Given the description of an element on the screen output the (x, y) to click on. 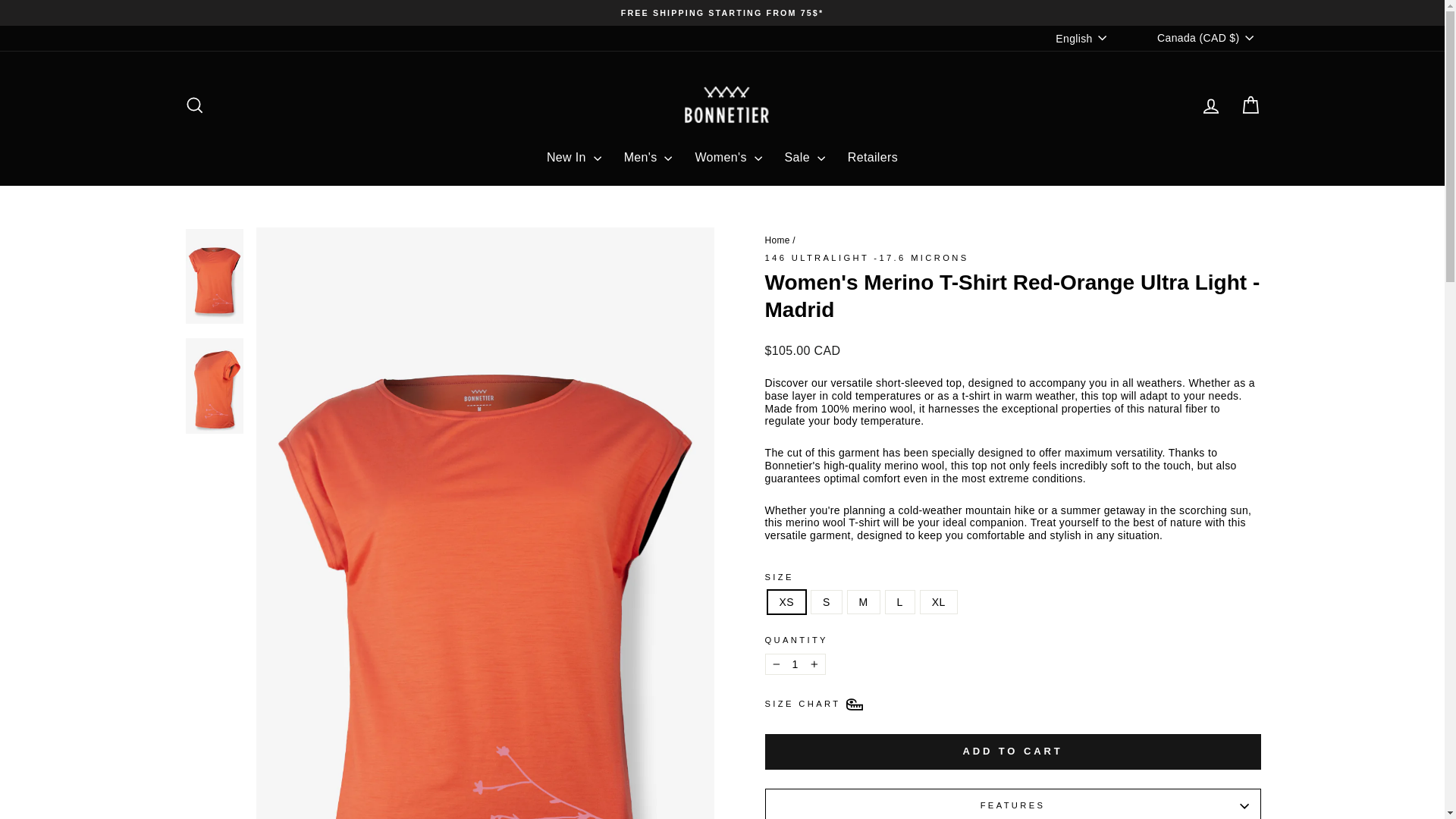
Back to the frontpage (776, 240)
1 (794, 664)
icon-search (194, 105)
account (1210, 106)
146 Ultralight -17.6 Microns (866, 257)
